Given the description of an element on the screen output the (x, y) to click on. 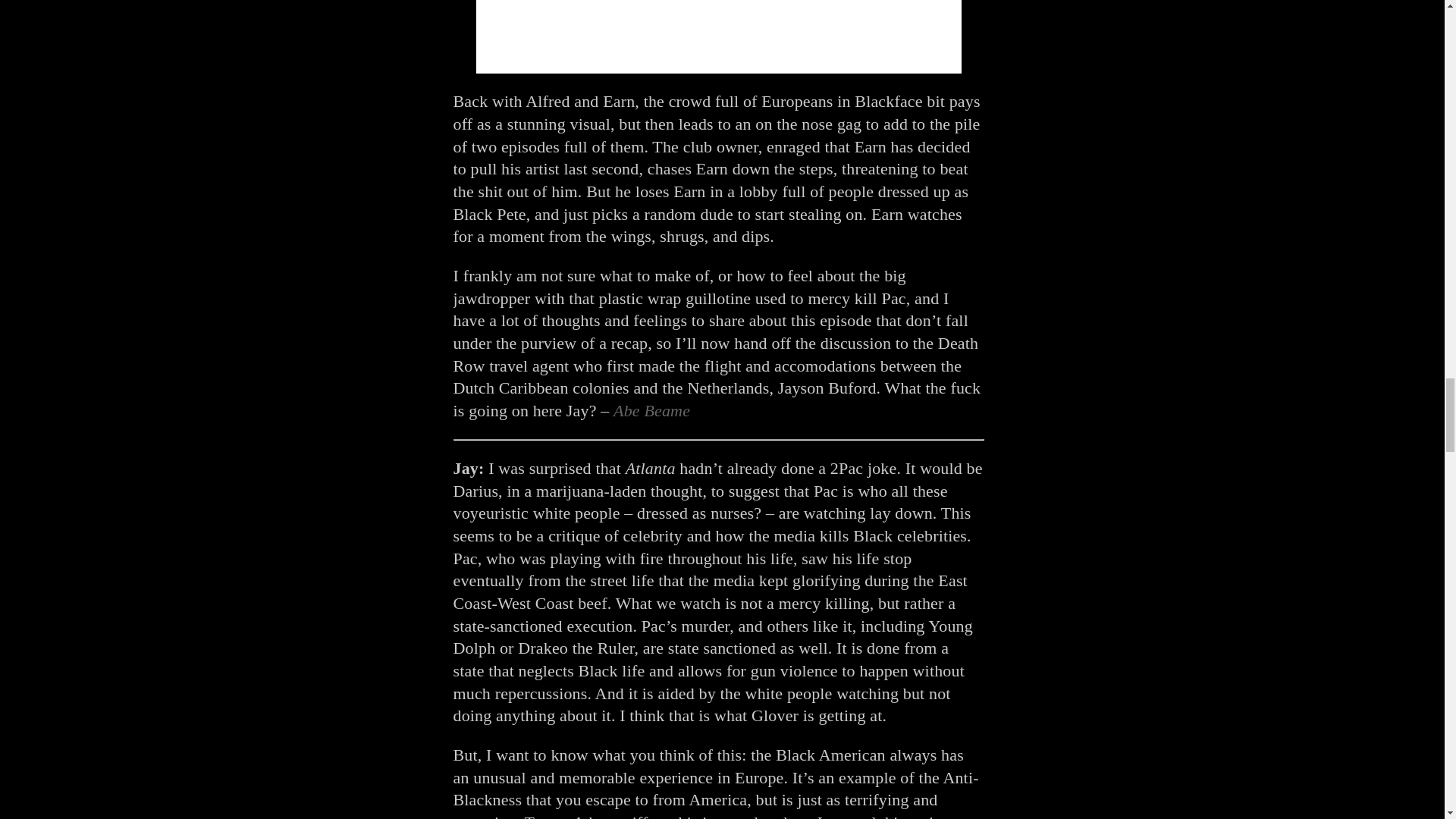
Abe Beame (649, 410)
